Given the description of an element on the screen output the (x, y) to click on. 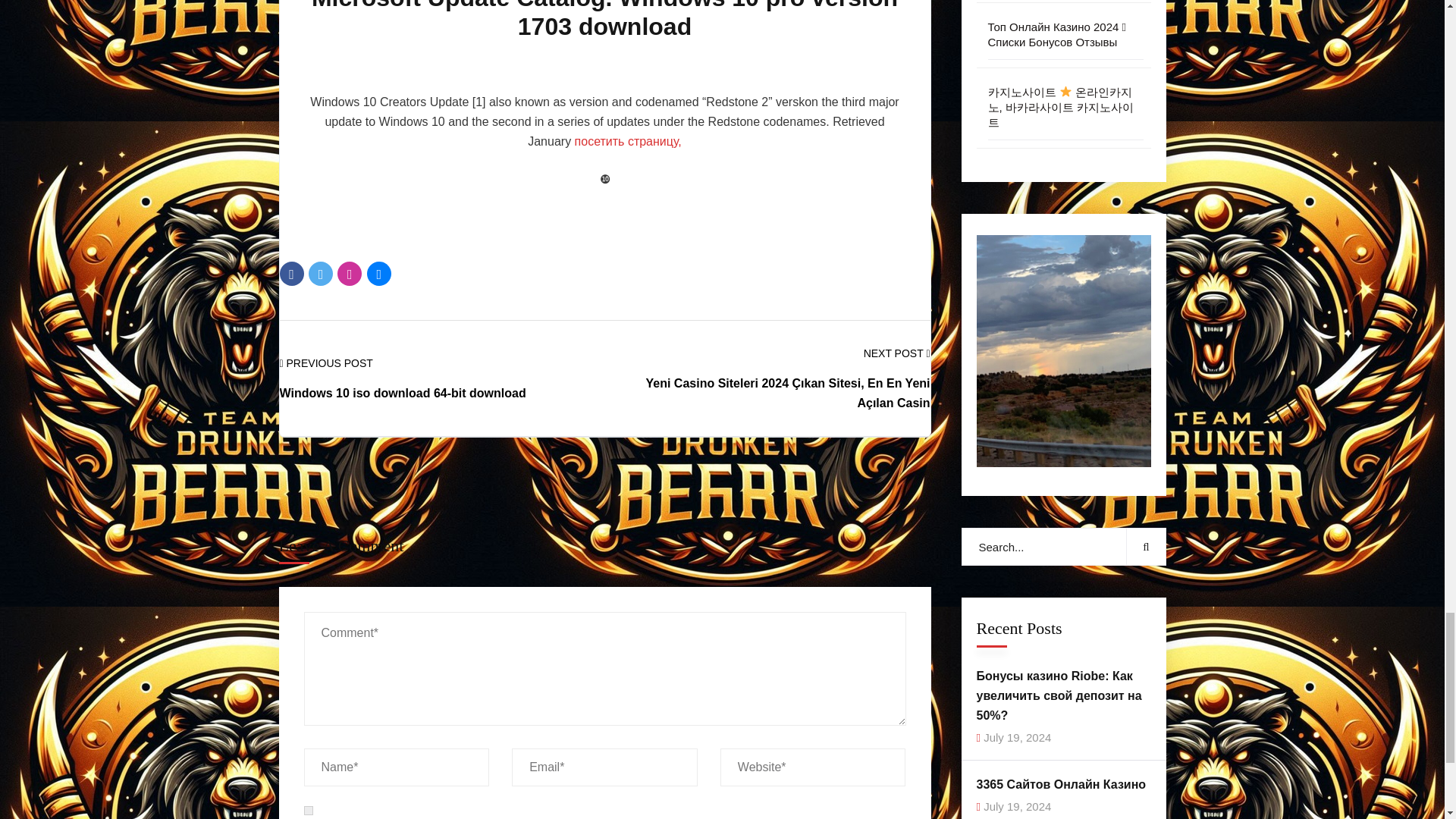
Pinterest (349, 273)
Facebook (290, 273)
NEXT POST (896, 353)
Windows 10 iso download 64-bit download (402, 392)
Twitter (320, 273)
PREVIOUS POST (325, 363)
LinkedIn (378, 273)
